Given the description of an element on the screen output the (x, y) to click on. 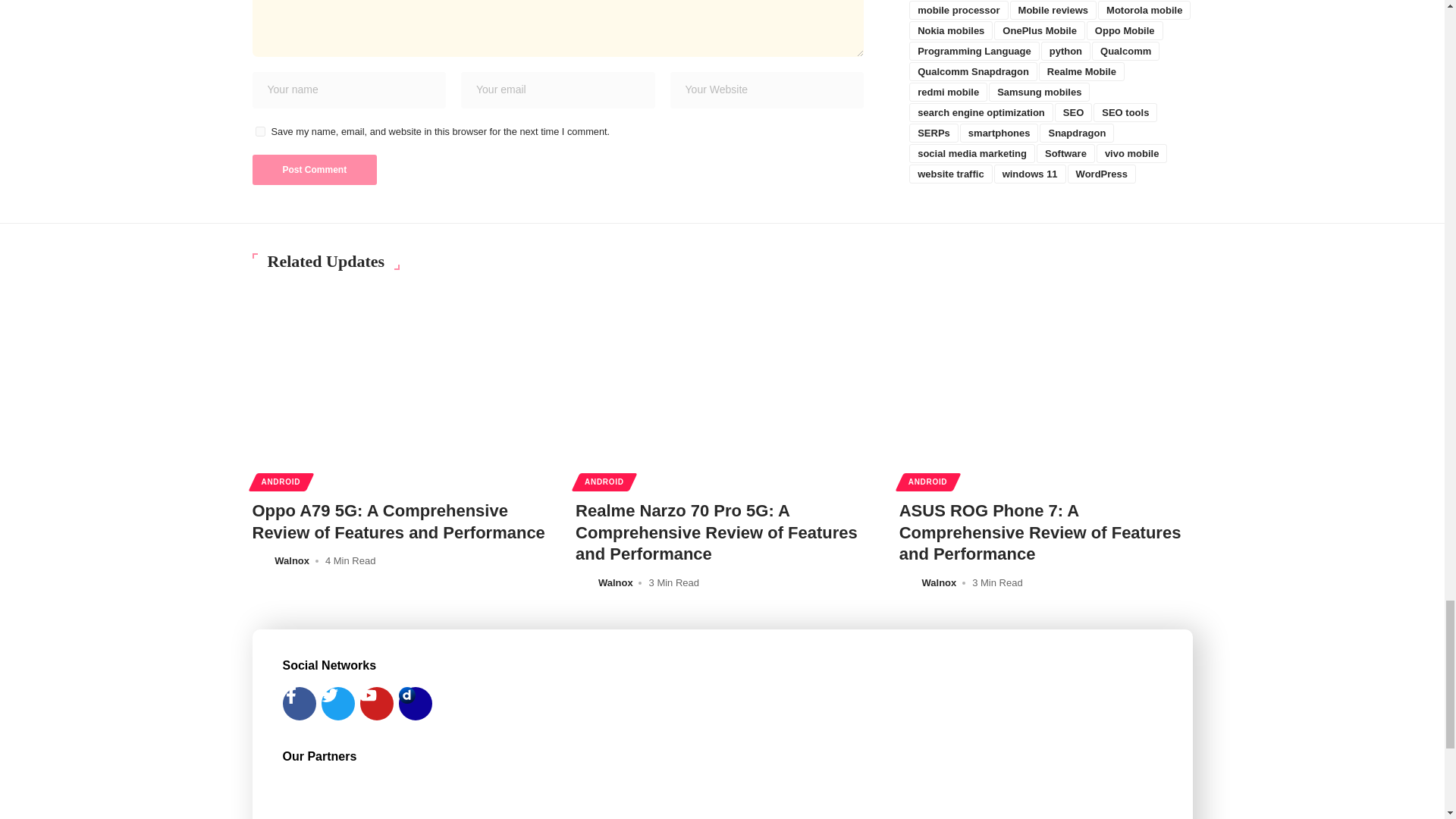
yes (259, 131)
Post Comment (314, 169)
